Given the description of an element on the screen output the (x, y) to click on. 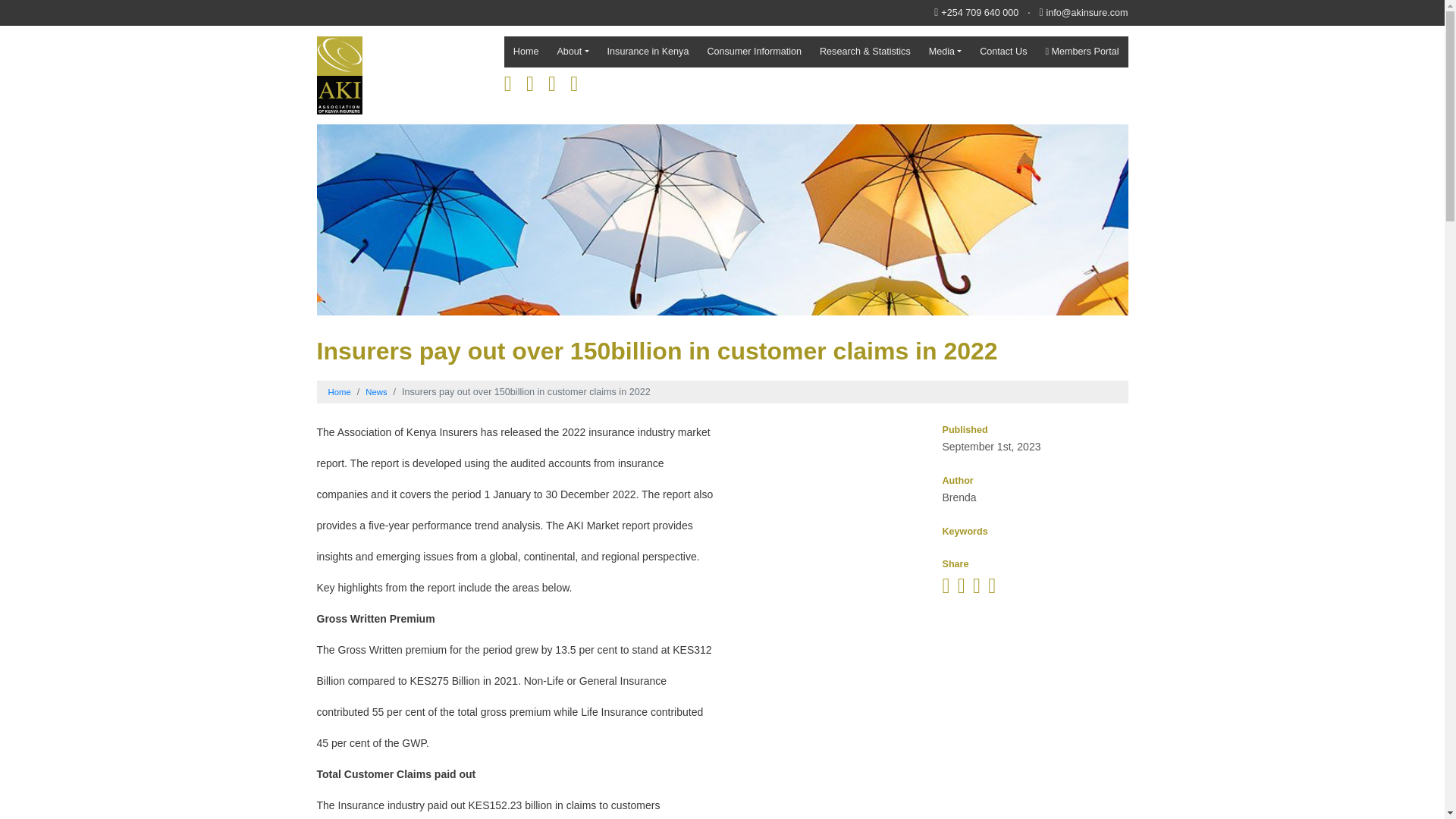
News (376, 391)
Members Portal (1080, 51)
Home (525, 51)
Media (945, 51)
Consumer Information (753, 51)
About (571, 51)
Home (338, 391)
Insurance in Kenya (648, 51)
Contact Us (1003, 51)
